Given the description of an element on the screen output the (x, y) to click on. 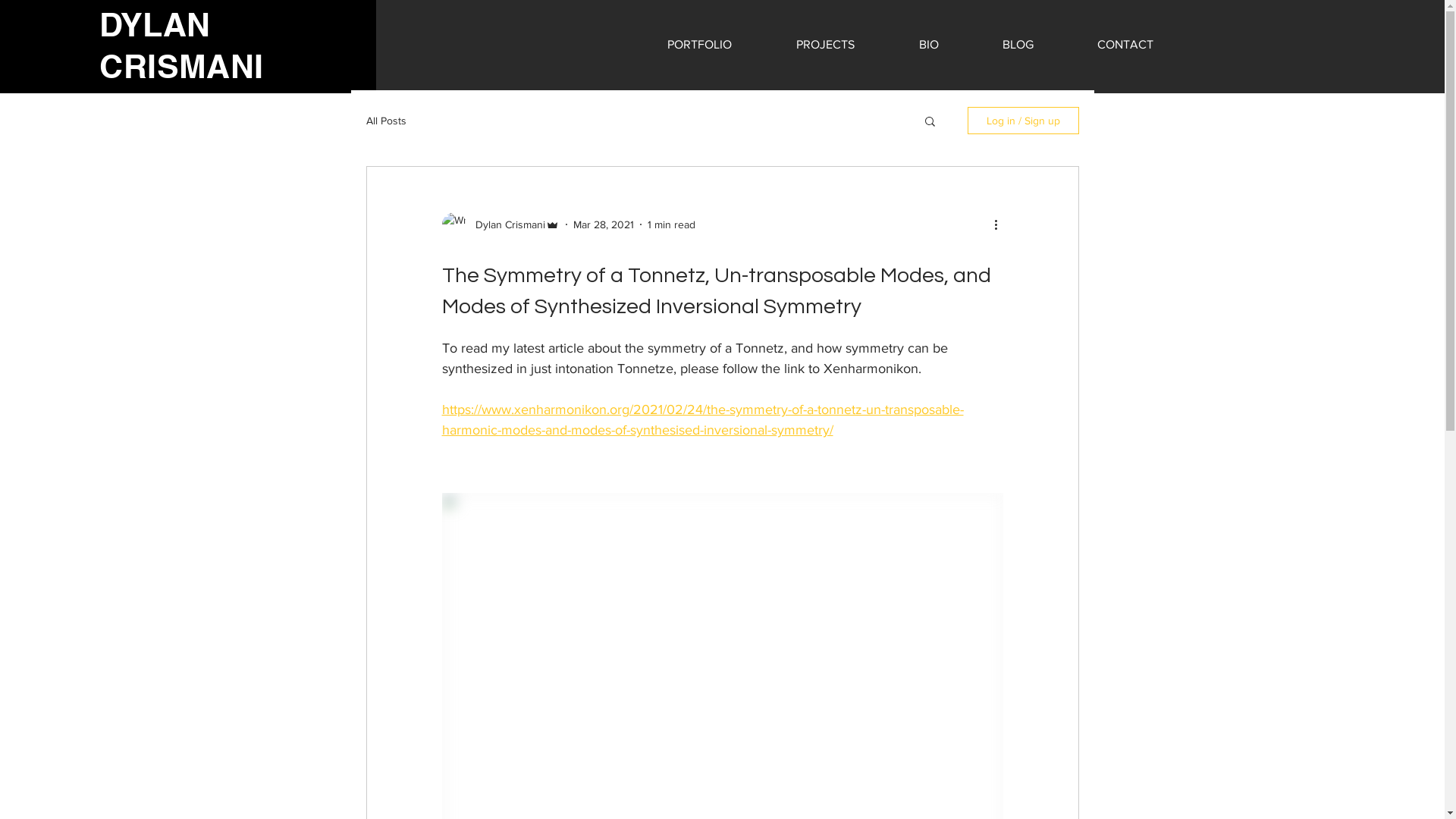
CONTACT Element type: text (1125, 44)
DYLAN CRISMANI Element type: text (181, 46)
BLOG Element type: text (1017, 44)
Log in / Sign up Element type: text (1023, 120)
PROJECTS Element type: text (825, 44)
BIO Element type: text (928, 44)
PORTFOLIO Element type: text (699, 44)
All Posts Element type: text (385, 120)
